Given the description of an element on the screen output the (x, y) to click on. 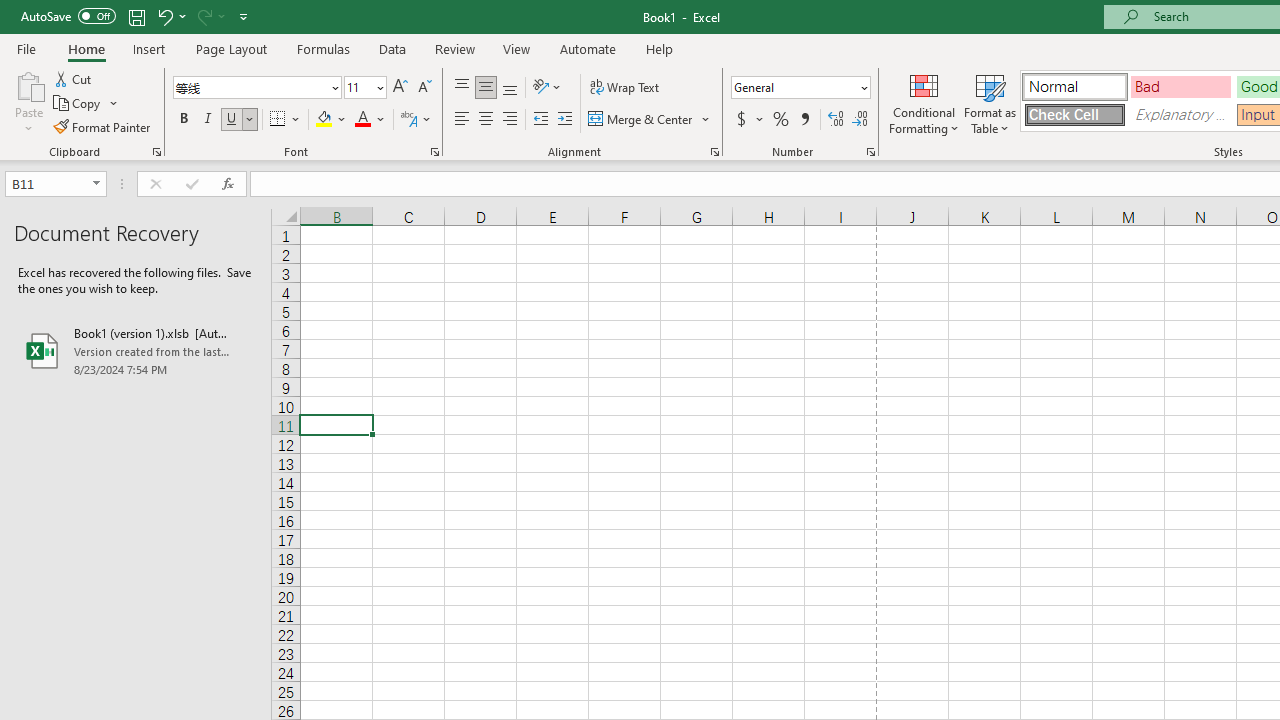
Fill Color (331, 119)
Increase Indent (565, 119)
Decrease Decimal (859, 119)
Wrap Text (624, 87)
Center (485, 119)
Number Format (794, 87)
Bottom Border (278, 119)
Bold (183, 119)
